Given the description of an element on the screen output the (x, y) to click on. 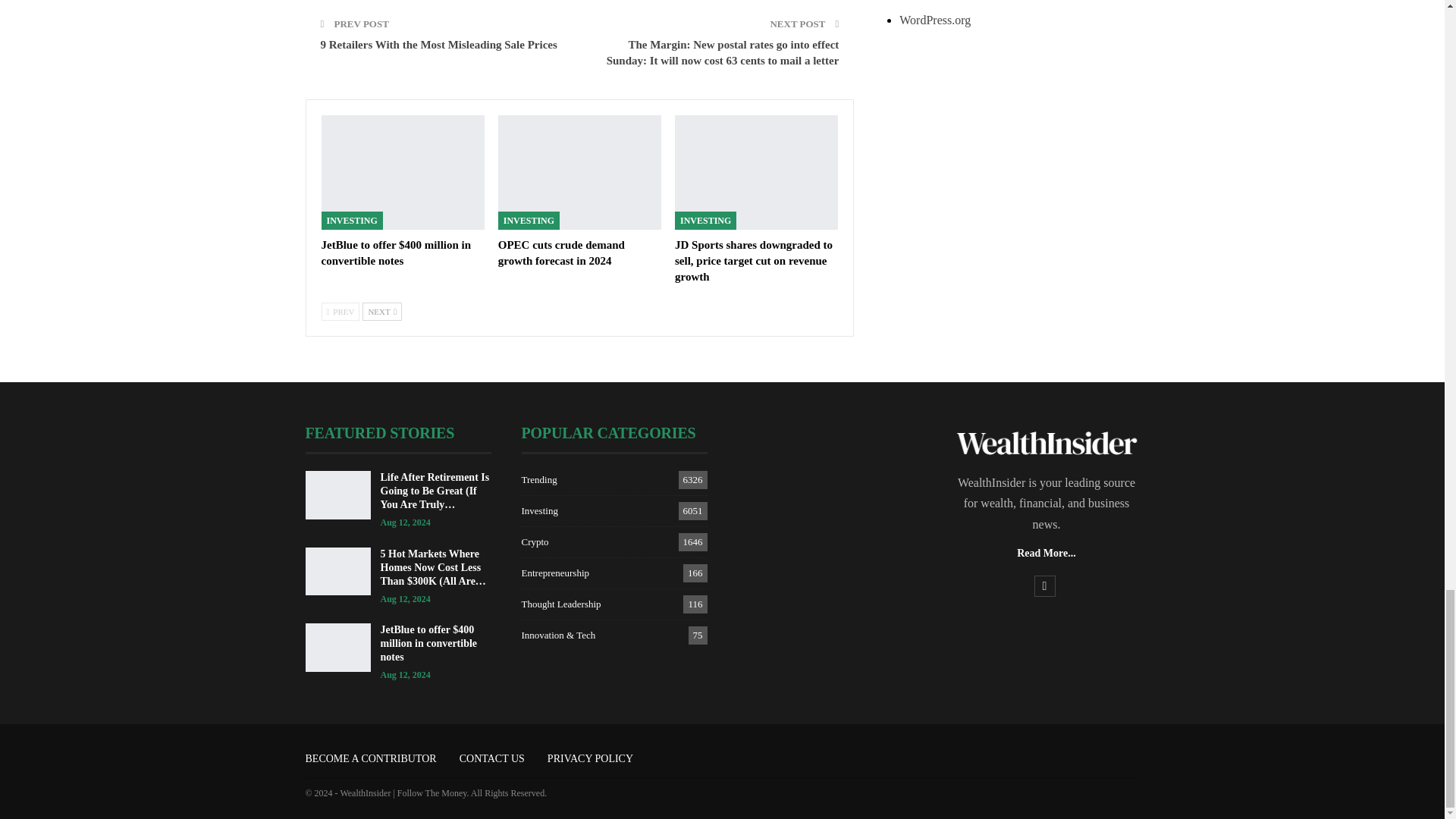
INVESTING (351, 220)
OPEC cuts crude demand growth forecast in 2024 (579, 172)
Previous (340, 311)
INVESTING (528, 220)
9 Retailers With the Most Misleading Sale Prices (438, 44)
OPEC cuts crude demand growth forecast in 2024 (560, 252)
Next (381, 311)
